Given the description of an element on the screen output the (x, y) to click on. 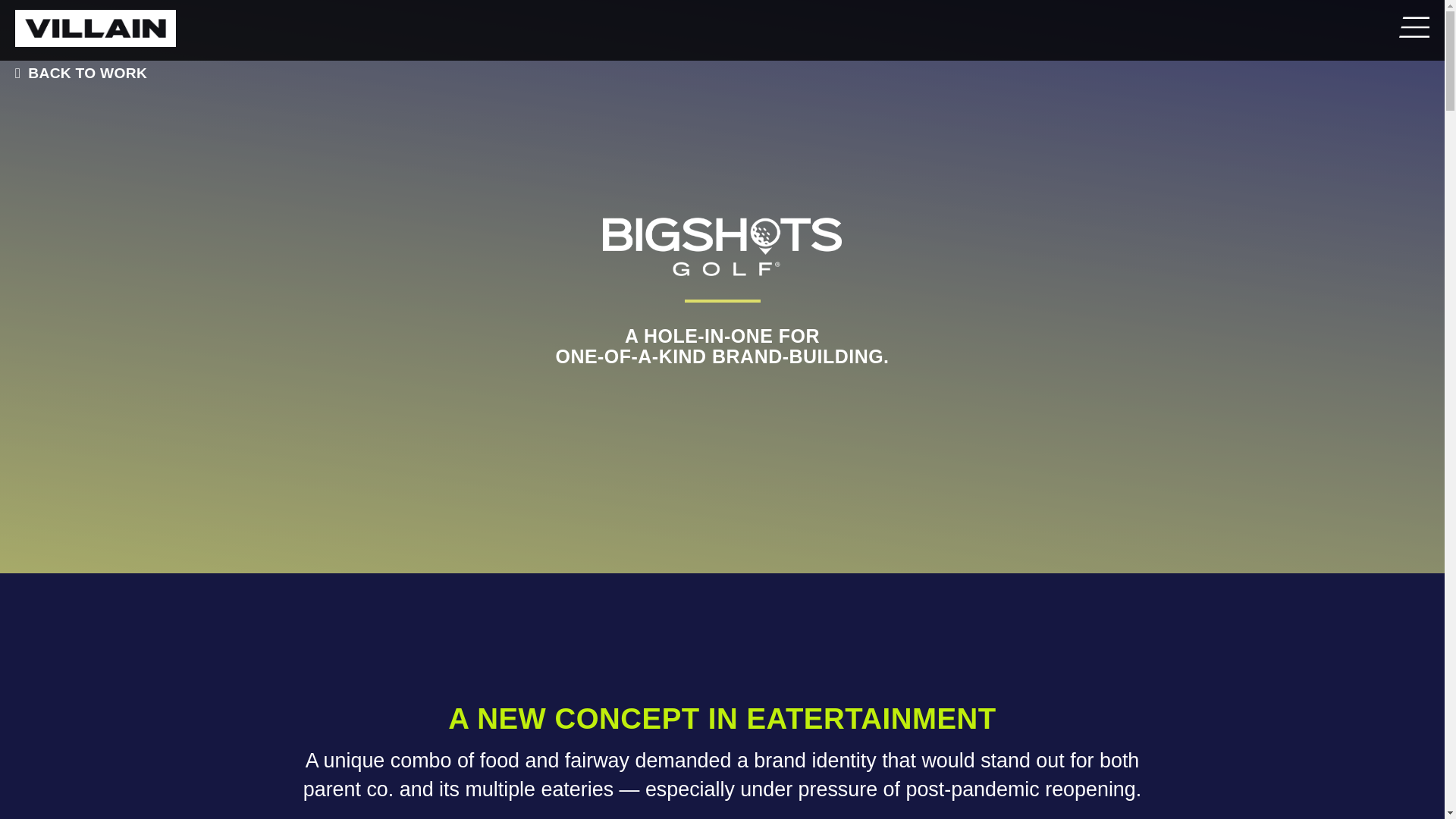
BACK TO WORK (77, 73)
